Given the description of an element on the screen output the (x, y) to click on. 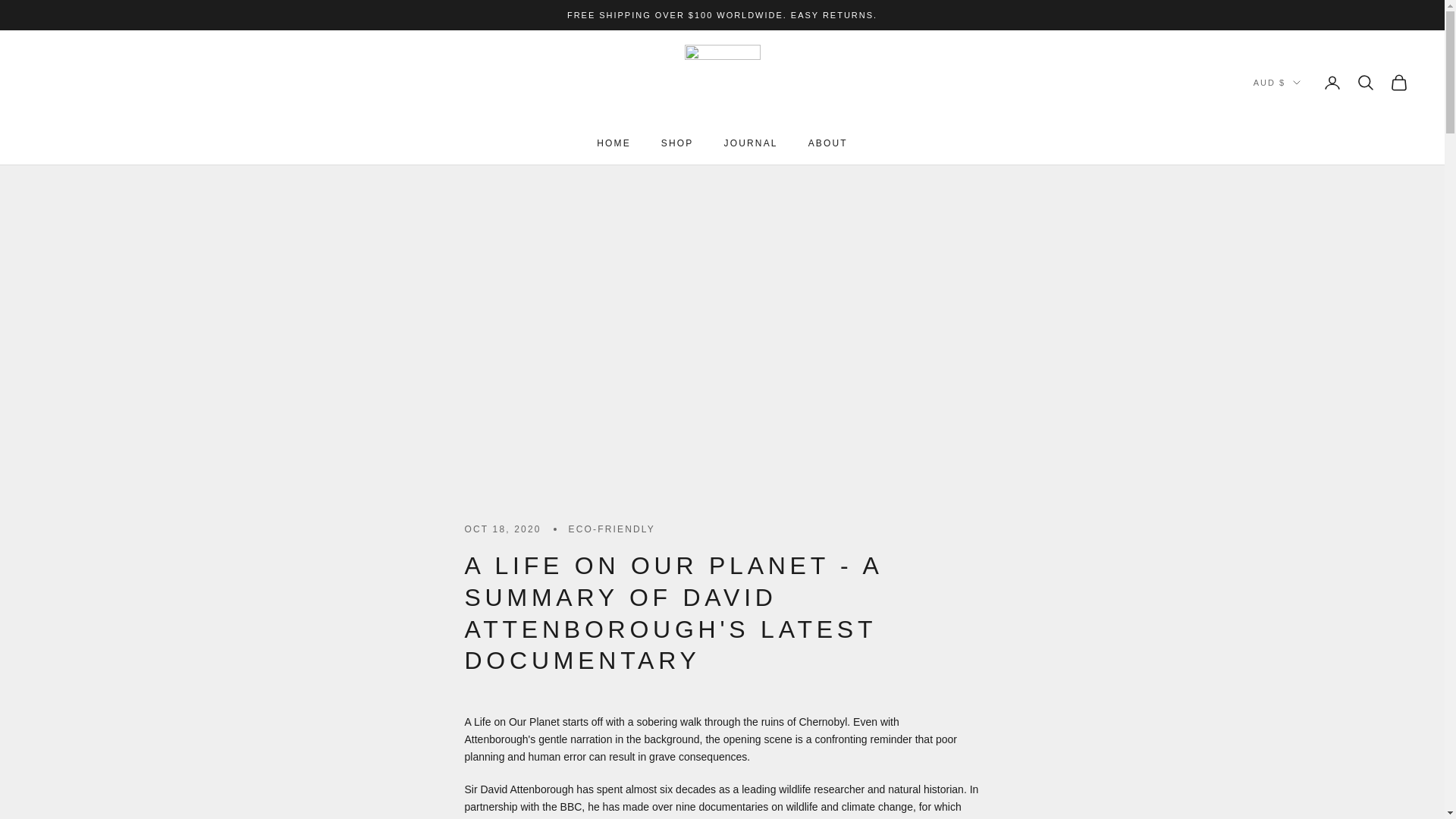
HOME (613, 142)
ABOUT (827, 142)
JOURNAL (750, 142)
TSL (722, 82)
